Given the description of an element on the screen output the (x, y) to click on. 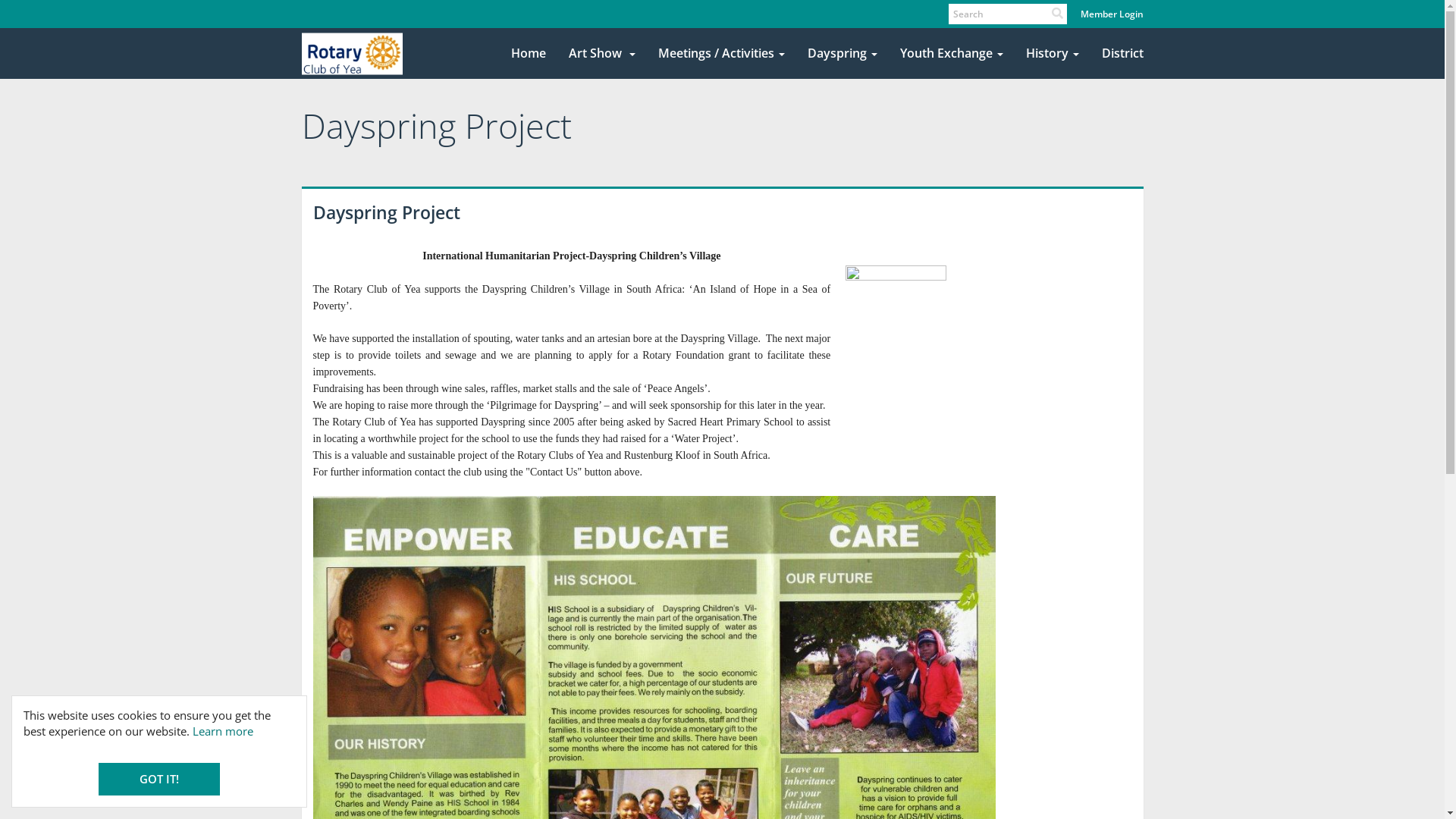
District Element type: text (1122, 53)
Learn more Element type: text (222, 730)
Home Element type: text (527, 53)
Youth Exchange Element type: text (951, 53)
Meetings / Activities Element type: text (720, 53)
GOT IT! Element type: text (158, 778)
History Element type: text (1052, 53)
Dayspring Element type: text (842, 53)
Member Login Element type: text (1110, 13)
Art Show Element type: text (601, 53)
